Given the description of an element on the screen output the (x, y) to click on. 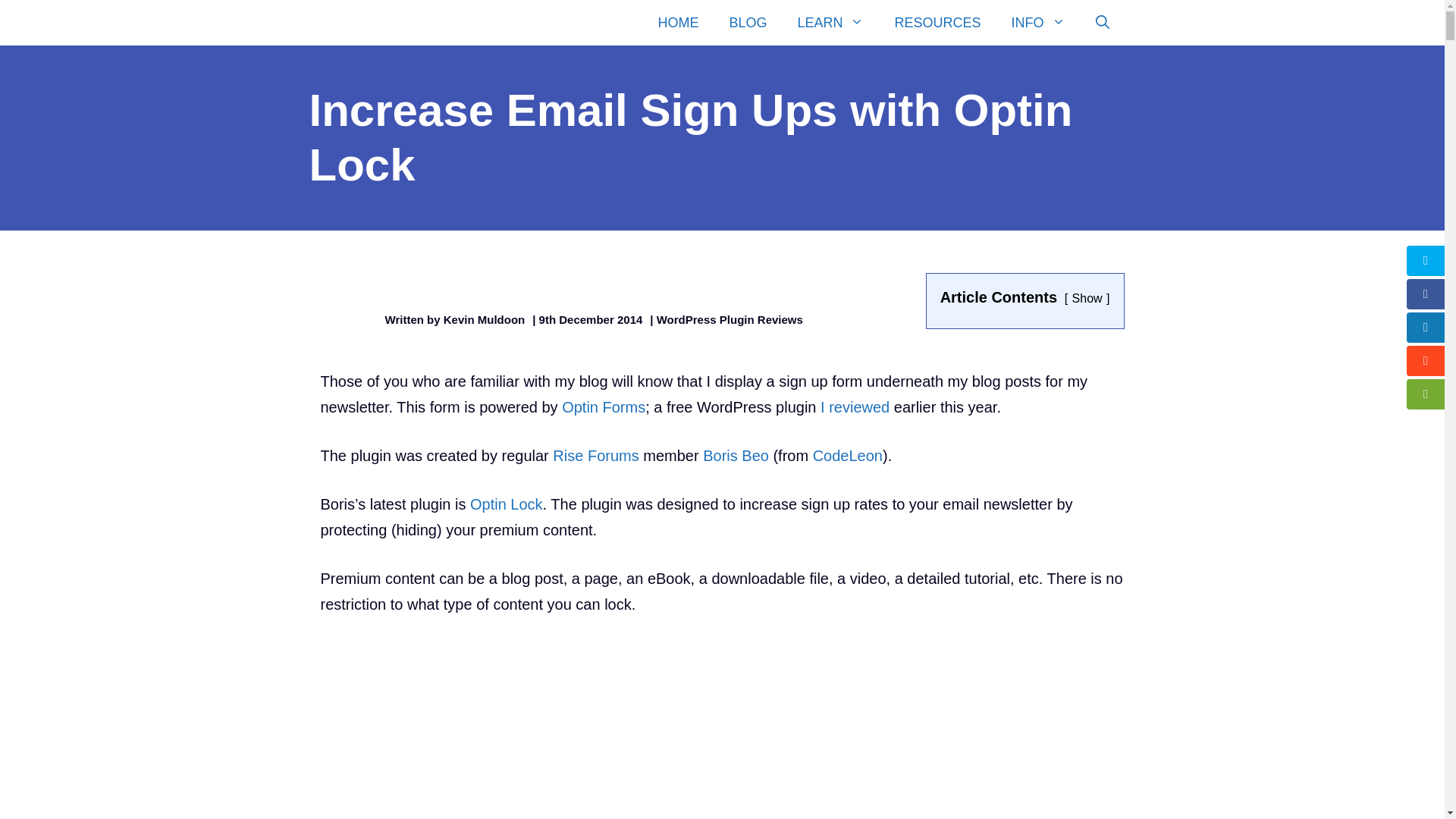
RESOURCES (937, 22)
INFO (1037, 22)
LEARN (830, 22)
BLOG (747, 22)
Home (677, 22)
HOME (677, 22)
Kevin Muldoon (414, 22)
